Given the description of an element on the screen output the (x, y) to click on. 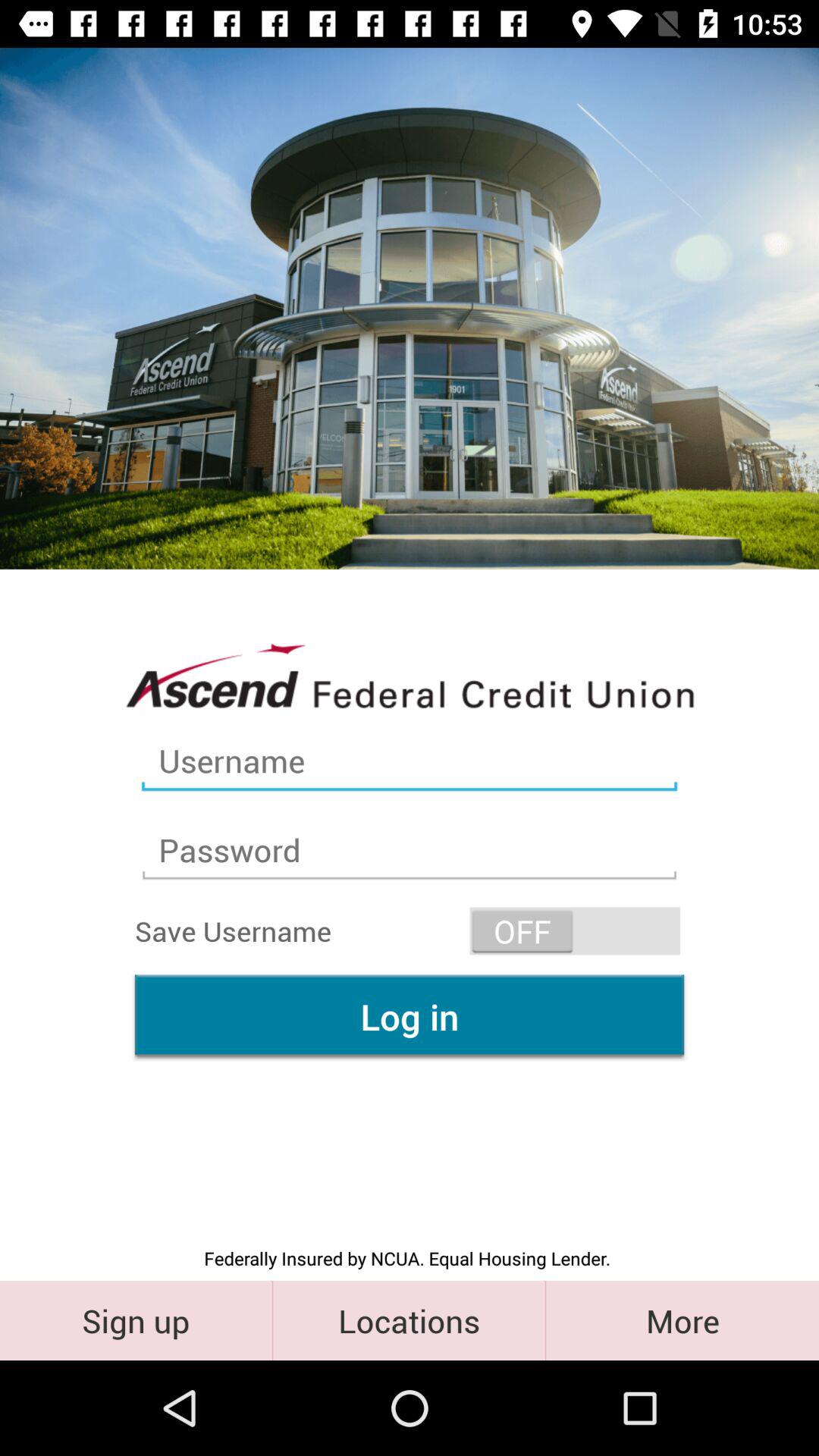
open the sign up icon (136, 1320)
